Given the description of an element on the screen output the (x, y) to click on. 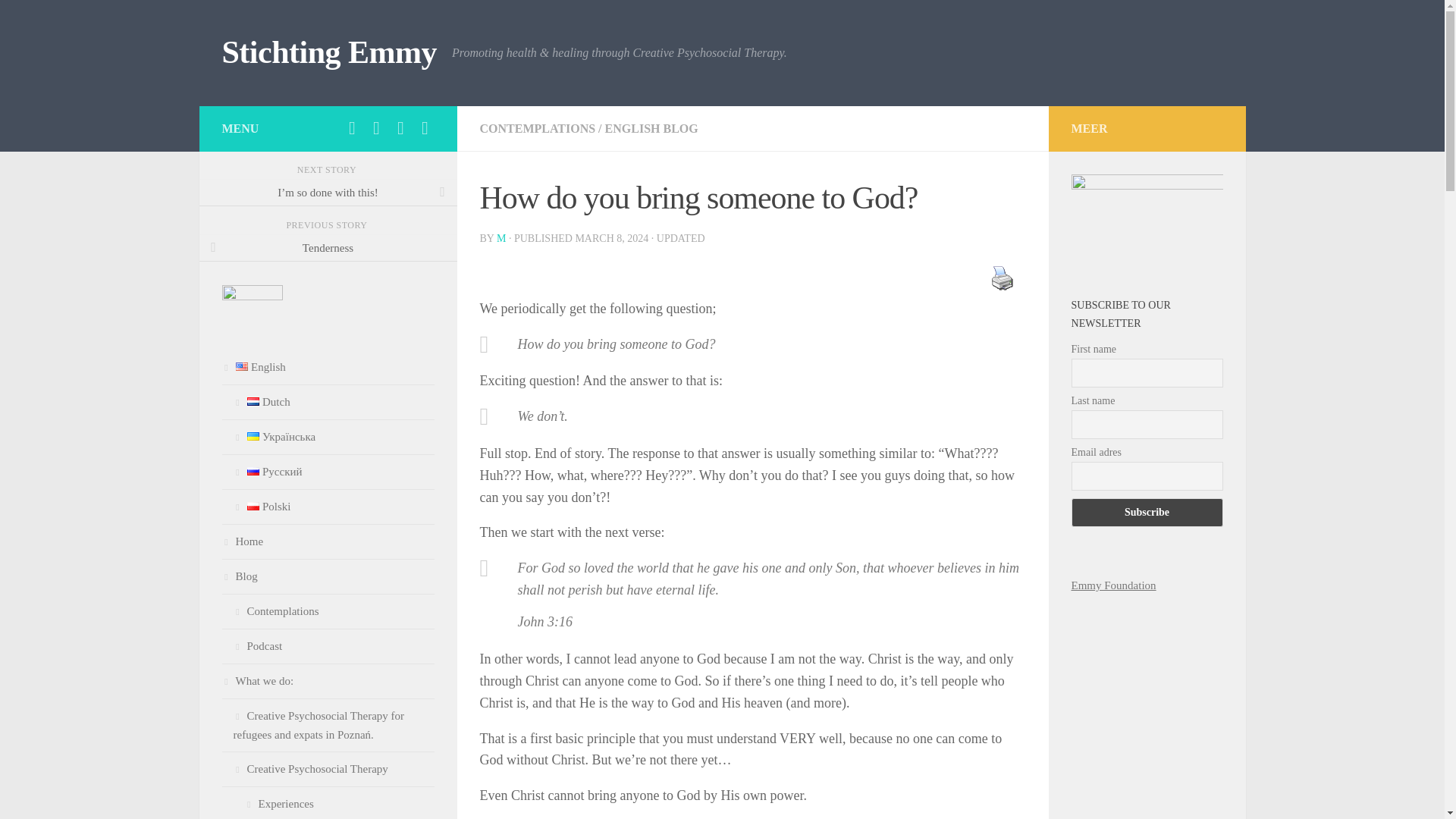
English (327, 367)
Volg ons op Rss (400, 127)
Email (423, 127)
Skip to content (59, 20)
Volg ons op Facebook (351, 127)
Tenderness (327, 247)
Stichting Emmy (328, 53)
CONTEMPLATIONS (537, 128)
Subscribe (1146, 512)
Print Content (1001, 278)
